Given the description of an element on the screen output the (x, y) to click on. 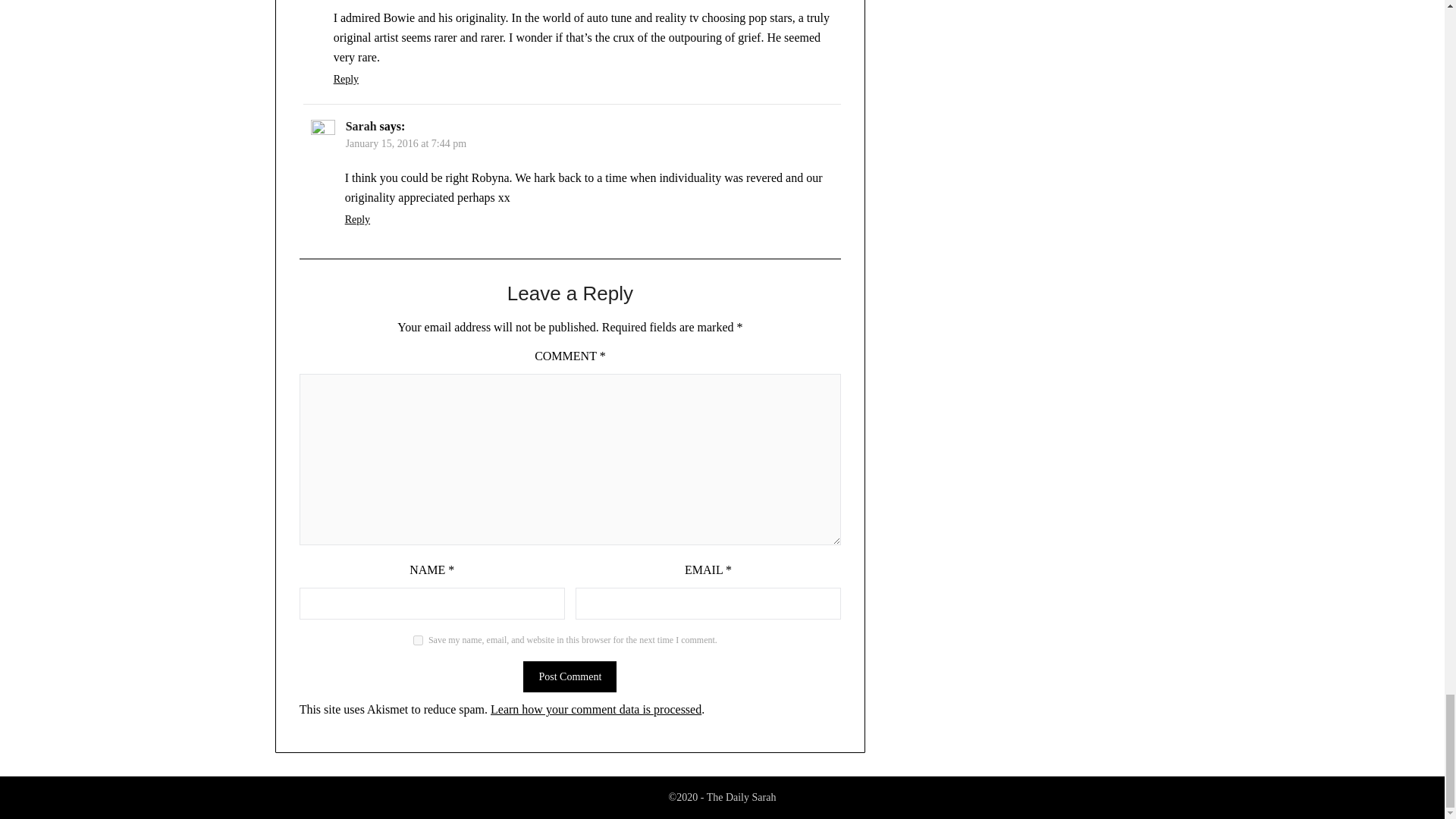
Post Comment (568, 676)
yes (418, 640)
